Given the description of an element on the screen output the (x, y) to click on. 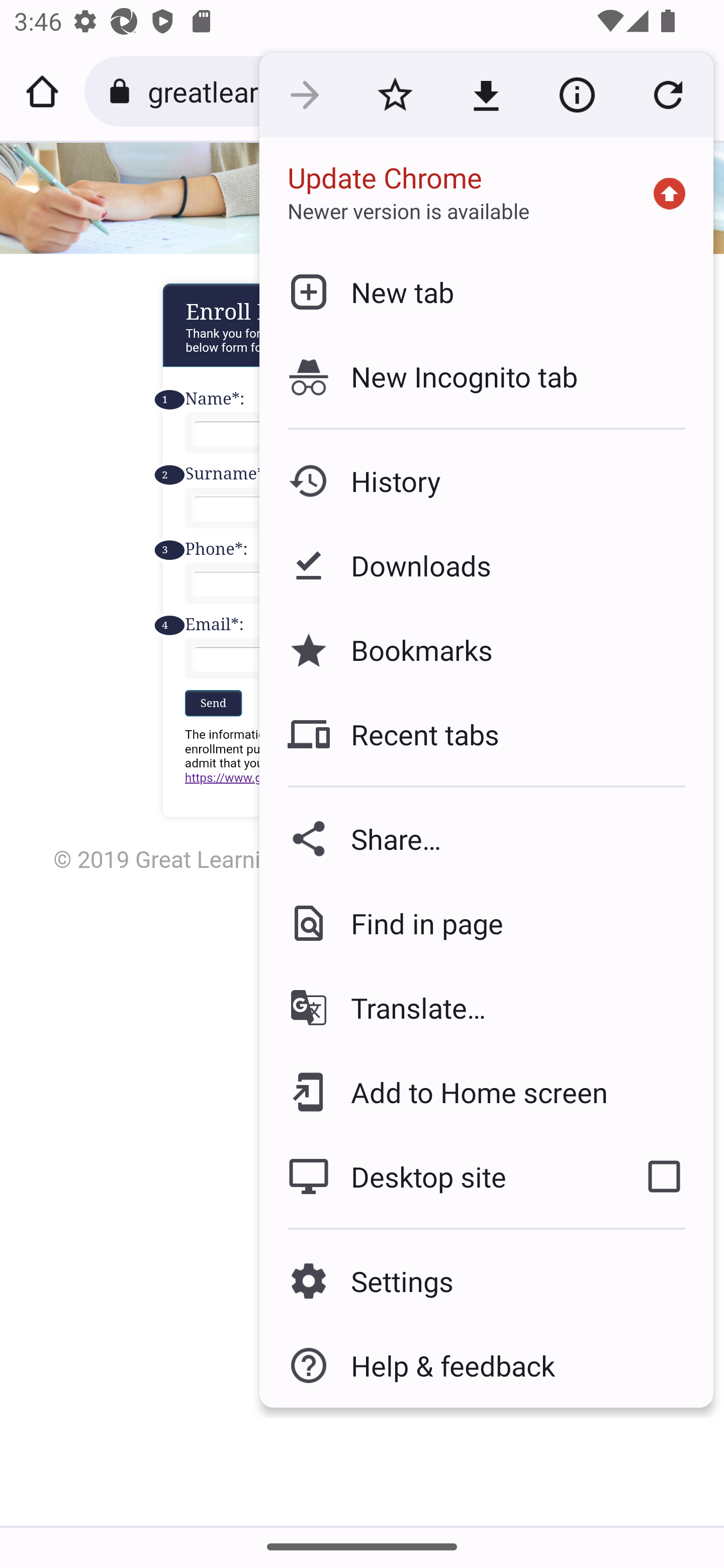
Forward (304, 95)
Bookmark (394, 95)
Download (485, 95)
Page info (576, 95)
Refresh (667, 95)
New tab (486, 291)
New Incognito tab (486, 375)
History (486, 481)
Downloads (486, 565)
Bookmarks (486, 649)
Recent tabs (486, 733)
Share… (486, 838)
Find in page (486, 923)
Translate… (486, 1007)
Add to Home screen (486, 1091)
Desktop site Turn on Request desktop site (436, 1175)
Settings (486, 1280)
Help & feedback (486, 1365)
